Given the description of an element on the screen output the (x, y) to click on. 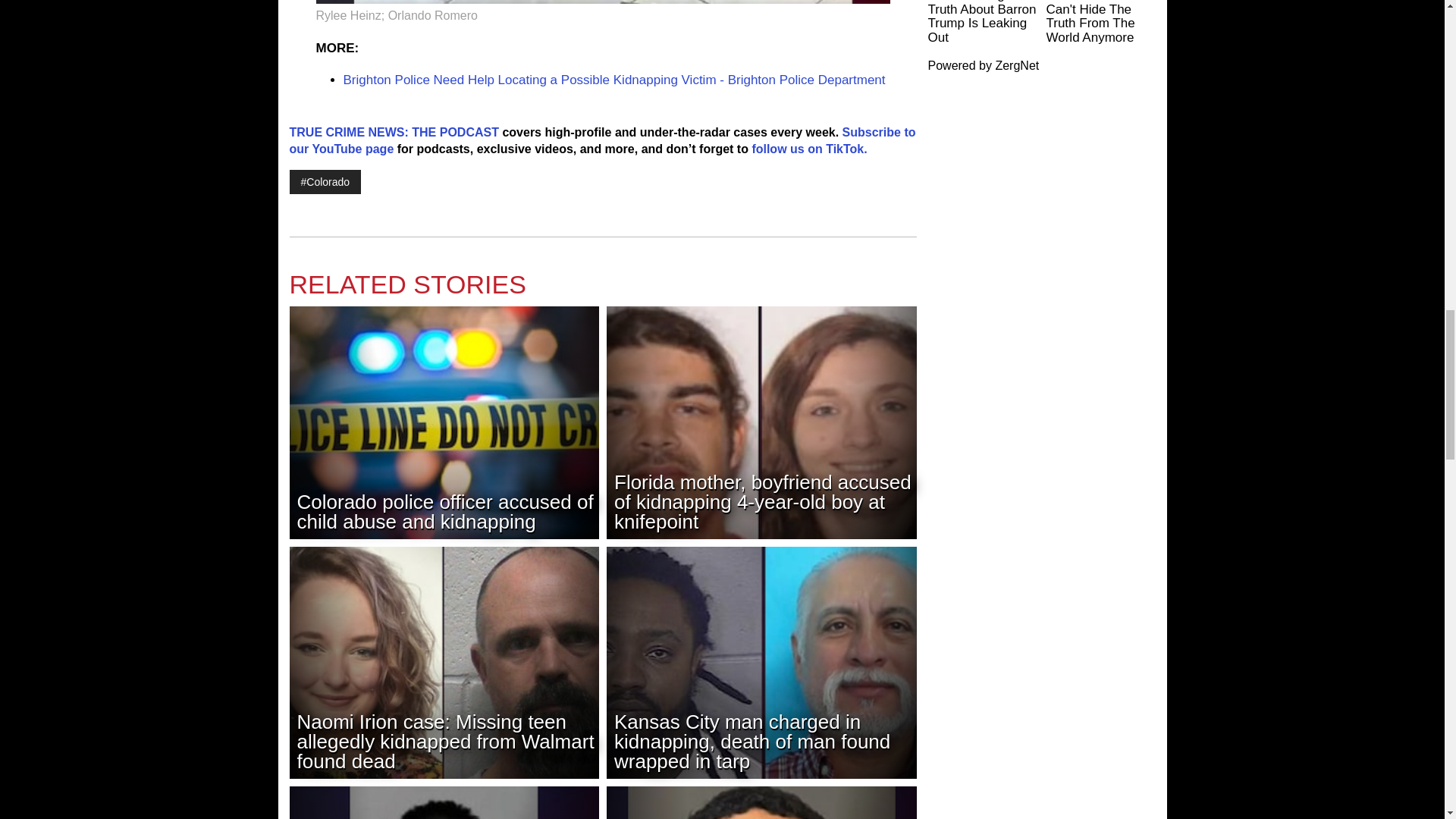
3rd party ad content (1042, 194)
